Given the description of an element on the screen output the (x, y) to click on. 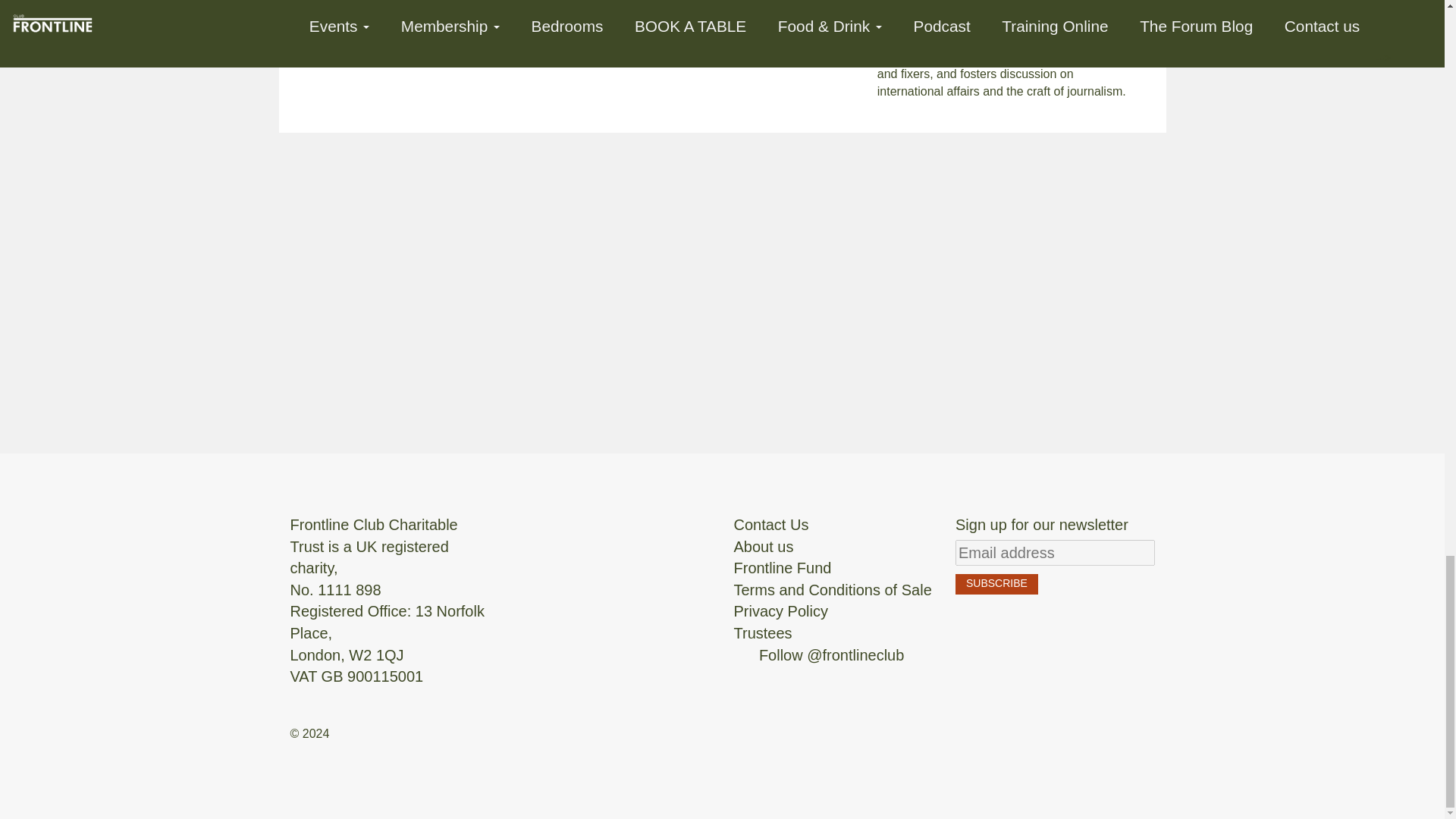
About us (763, 546)
Contact Us (771, 524)
Subscribe (996, 584)
Book a table in our restaurant before or after your event (434, 24)
Frontline Fund (782, 567)
Privacy Policy (780, 610)
Trustees (762, 632)
Terms and Conditions of Sale (832, 589)
